Given the description of an element on the screen output the (x, y) to click on. 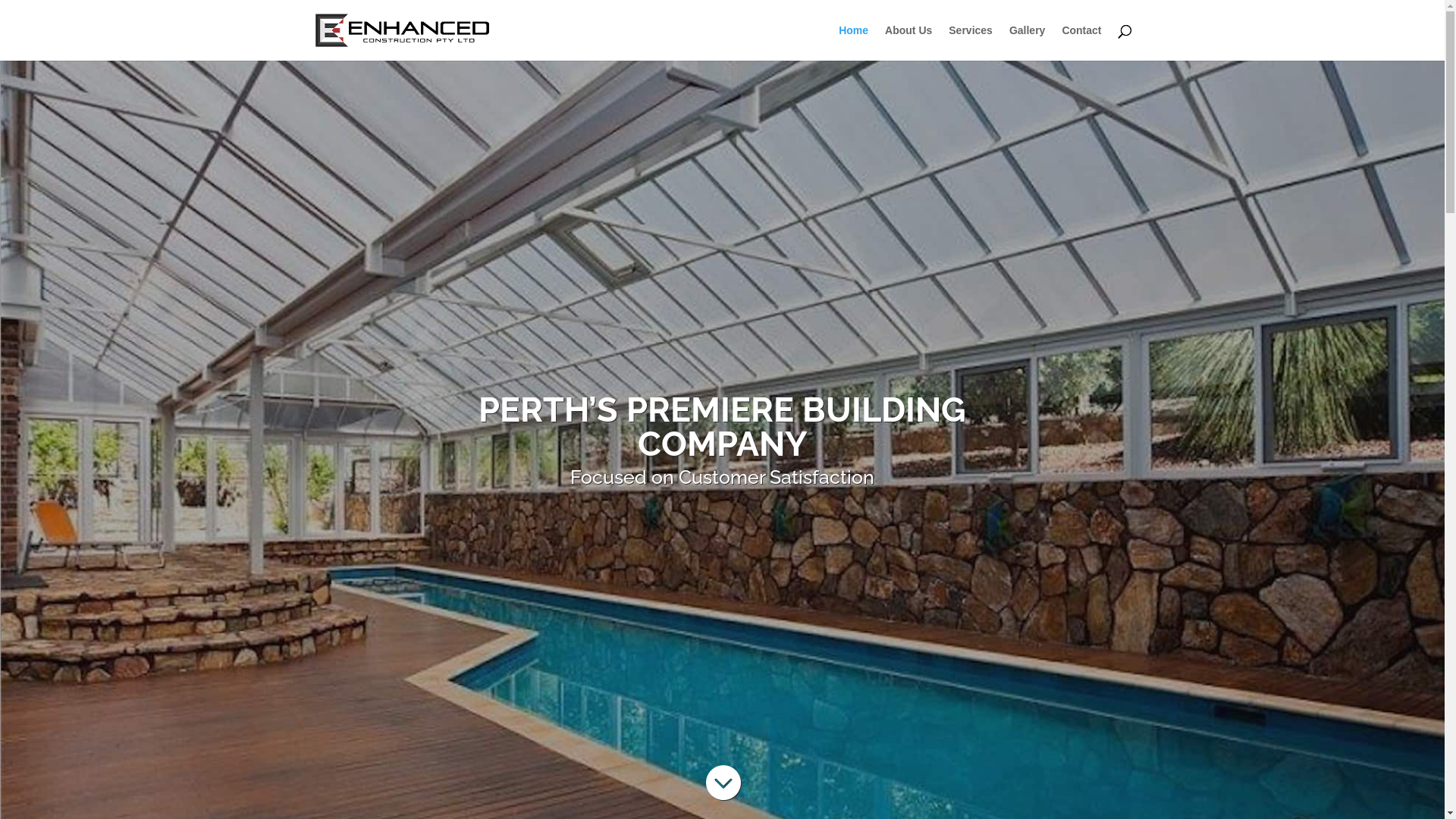
Contact Element type: text (1081, 42)
Home Element type: text (853, 42)
Services Element type: text (970, 42)
About Us Element type: text (907, 42)
Gallery Element type: text (1026, 42)
